Given the description of an element on the screen output the (x, y) to click on. 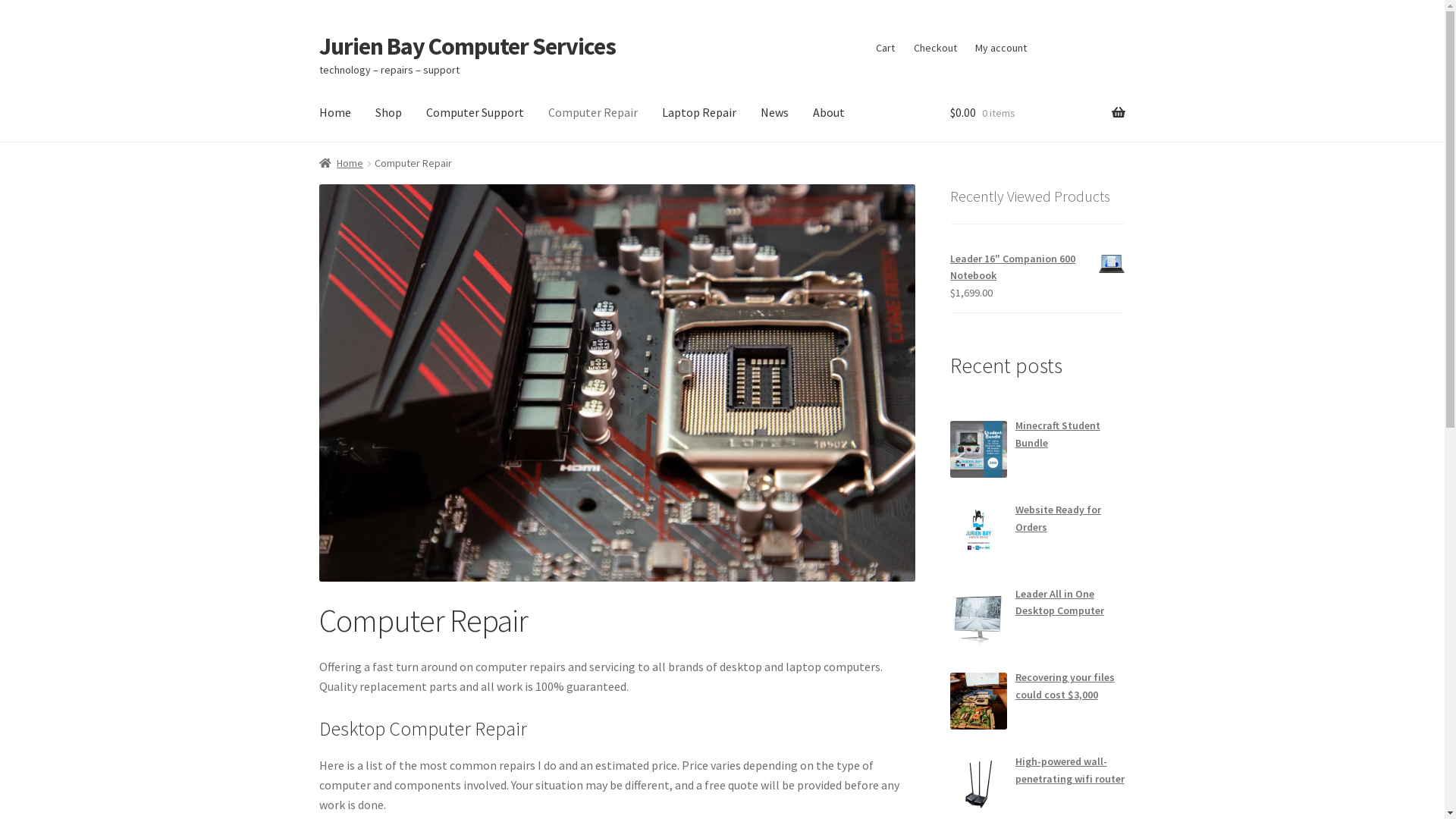
Leader All in One Desktop Computer Element type: text (1059, 602)
High-powered wall-penetrating wifi router Element type: text (1069, 769)
$0.00 0 items Element type: text (1037, 112)
Jurien Bay Computer Services Element type: text (467, 46)
Home Element type: text (335, 112)
Skip to navigation Element type: text (318, 31)
My account Element type: text (1001, 47)
Shop Element type: text (388, 112)
Home Element type: text (341, 162)
Checkout Element type: text (935, 47)
Recovering your files could cost $3,000 Element type: text (1064, 685)
Computer Support Element type: text (475, 112)
About Element type: text (828, 112)
Leader 16" Companion 600 Notebook Element type: text (1037, 267)
Cart Element type: text (885, 47)
News Element type: text (774, 112)
Laptop Repair Element type: text (698, 112)
Computer Repair Element type: text (592, 112)
Minecraft Student Bundle Element type: text (1057, 433)
Website Ready for Orders Element type: text (1058, 517)
